Given the description of an element on the screen output the (x, y) to click on. 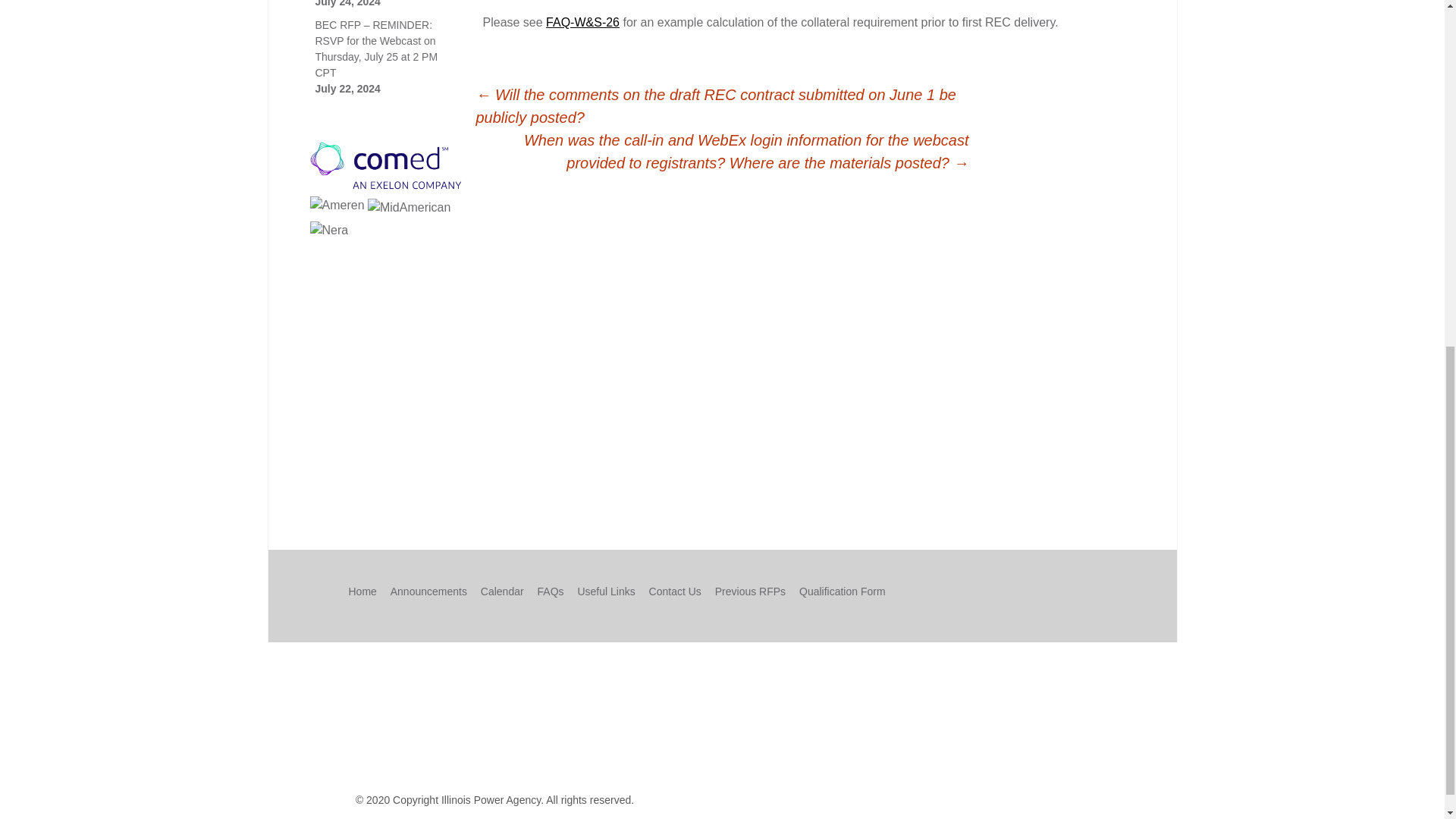
Ameren (336, 205)
Nera (327, 230)
ComEd (384, 165)
MidAmerican (408, 208)
